Given the description of an element on the screen output the (x, y) to click on. 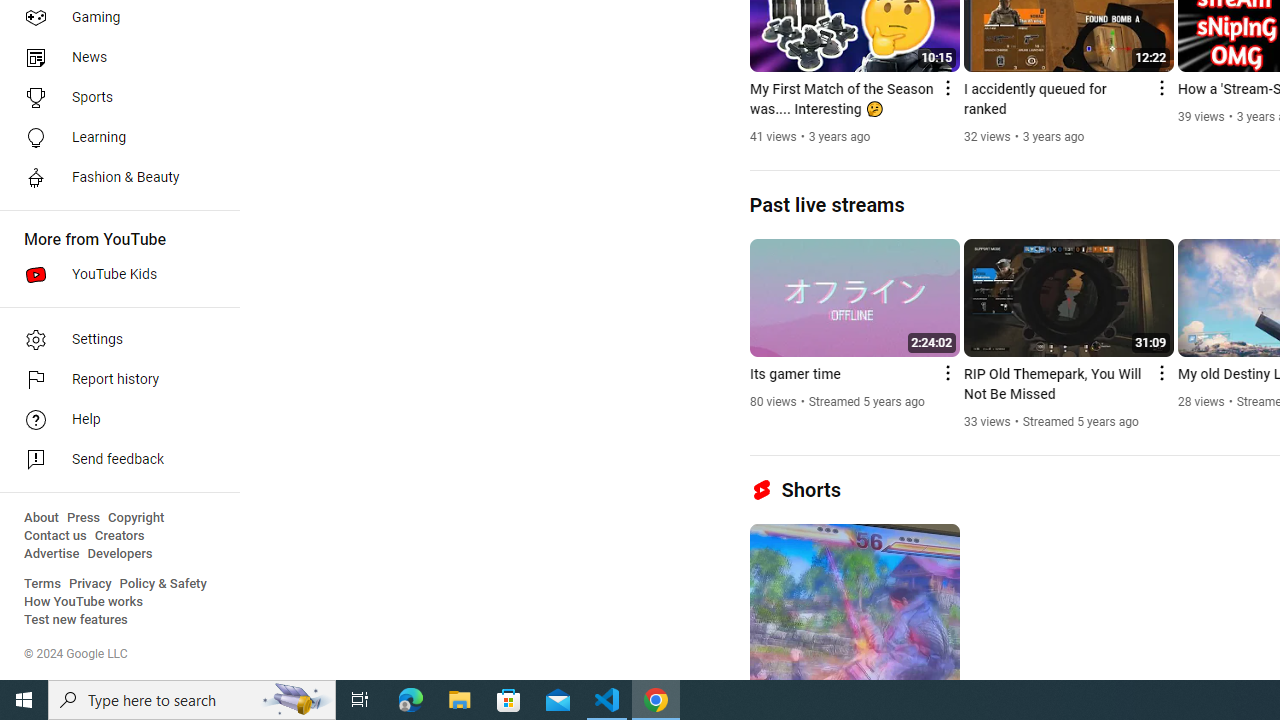
Press (83, 518)
News (113, 57)
Contact us (55, 536)
Action menu (1160, 372)
How YouTube works (83, 602)
Report history (113, 380)
Policy & Safety (163, 584)
Developers (120, 554)
Past live streams (826, 204)
Copyright (136, 518)
